Given the description of an element on the screen output the (x, y) to click on. 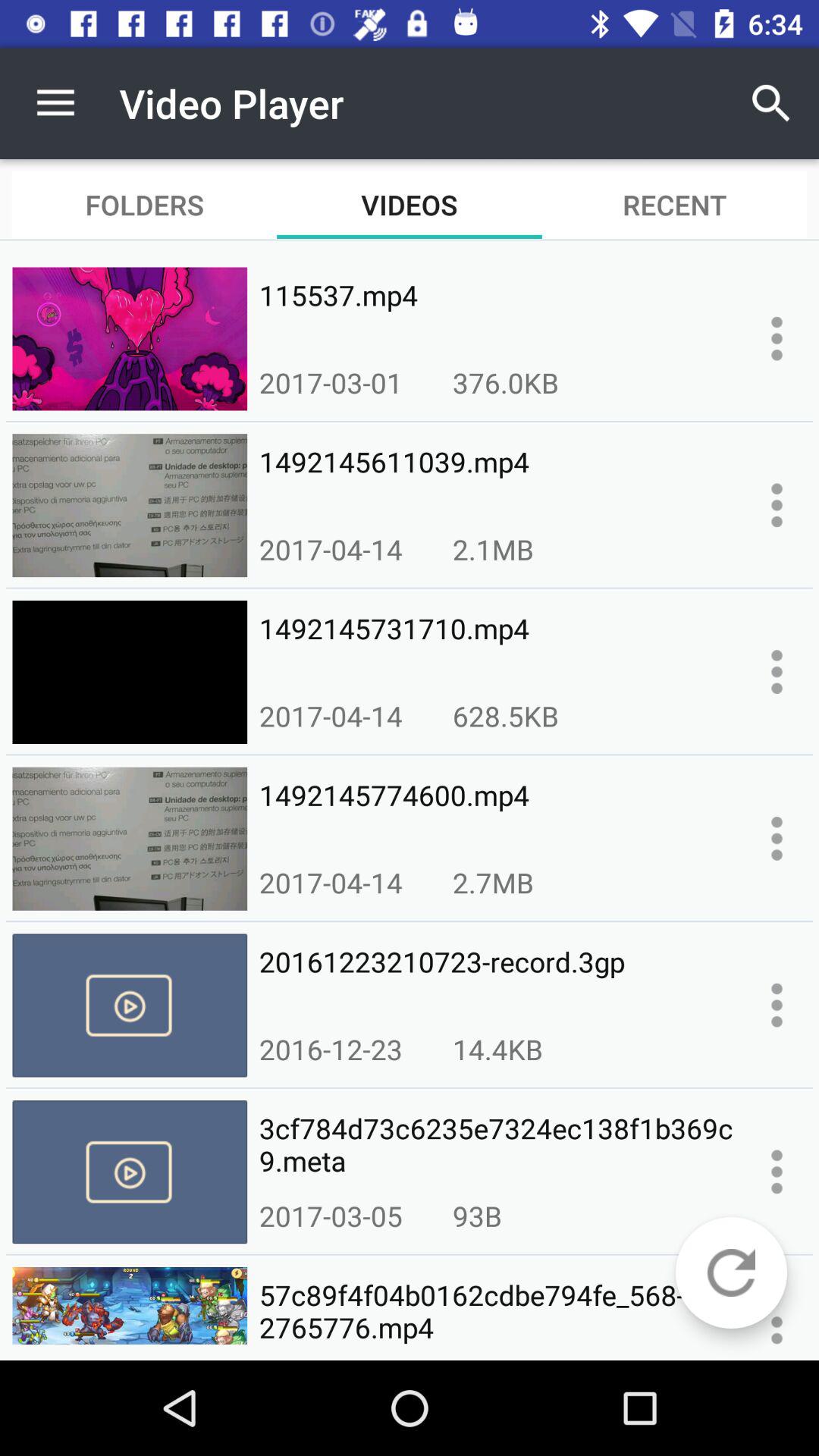
view options (776, 1171)
